Given the description of an element on the screen output the (x, y) to click on. 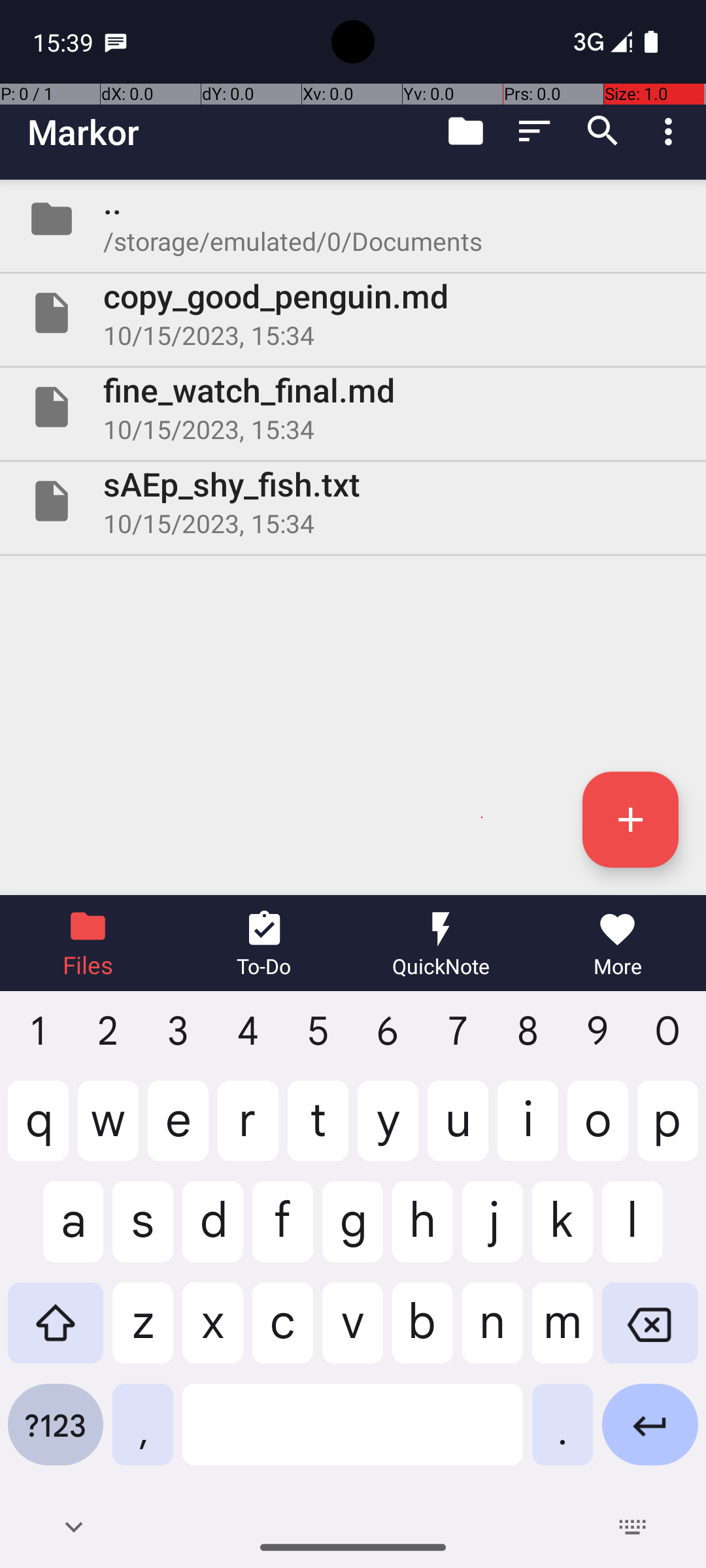
File copy_good_penguin.md  Element type: android.widget.LinearLayout (353, 312)
File fine_watch_final.md  Element type: android.widget.LinearLayout (353, 406)
File sAEp_shy_fish.txt  Element type: android.widget.LinearLayout (353, 500)
15:39 Element type: android.widget.TextView (64, 41)
